Given the description of an element on the screen output the (x, y) to click on. 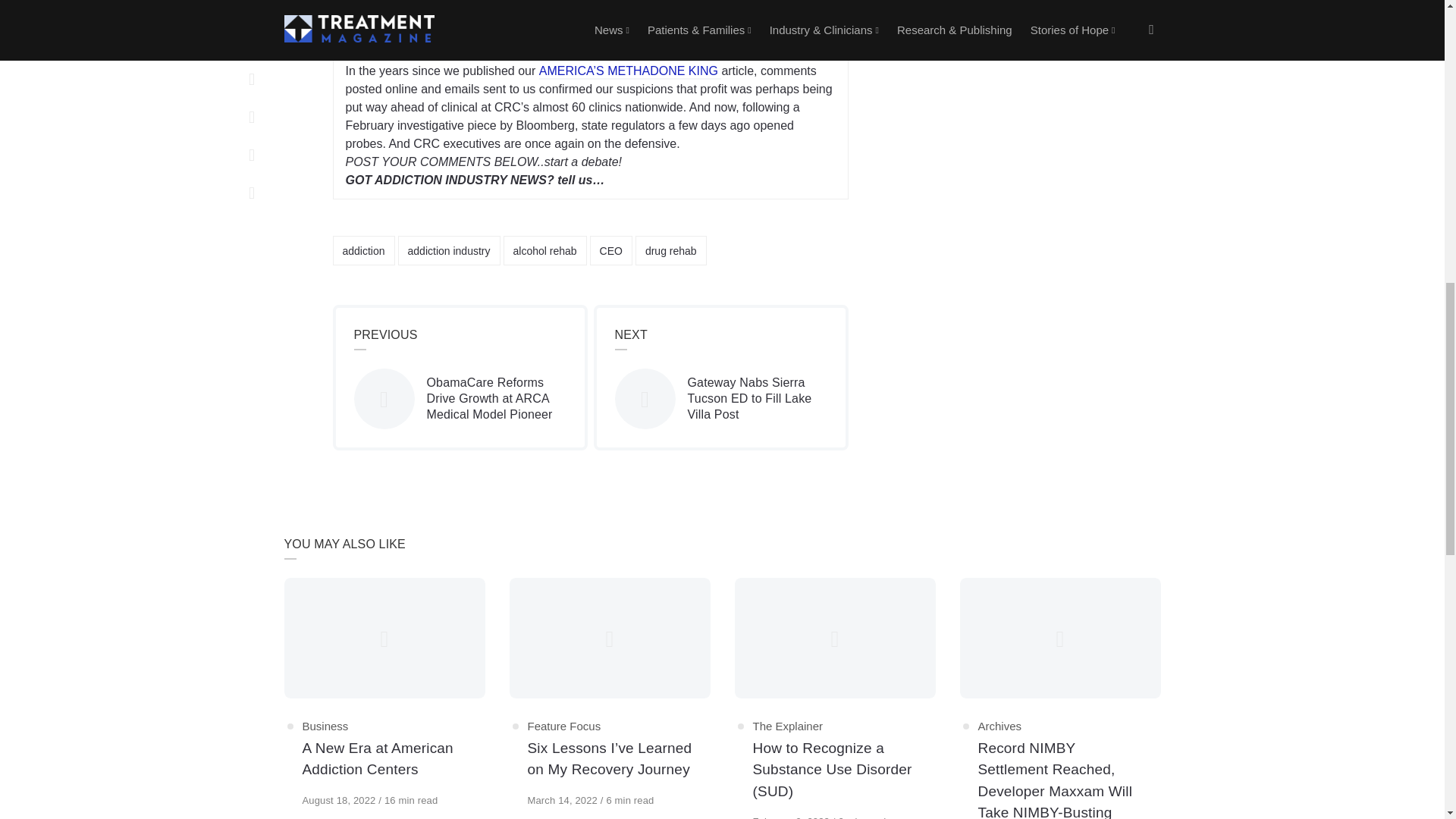
addiction (362, 250)
February 9, 2022 (791, 817)
addiction industry (448, 250)
March 14, 2022 (563, 799)
August 18, 2022 (339, 799)
alcohol rehab (544, 250)
